Given the description of an element on the screen output the (x, y) to click on. 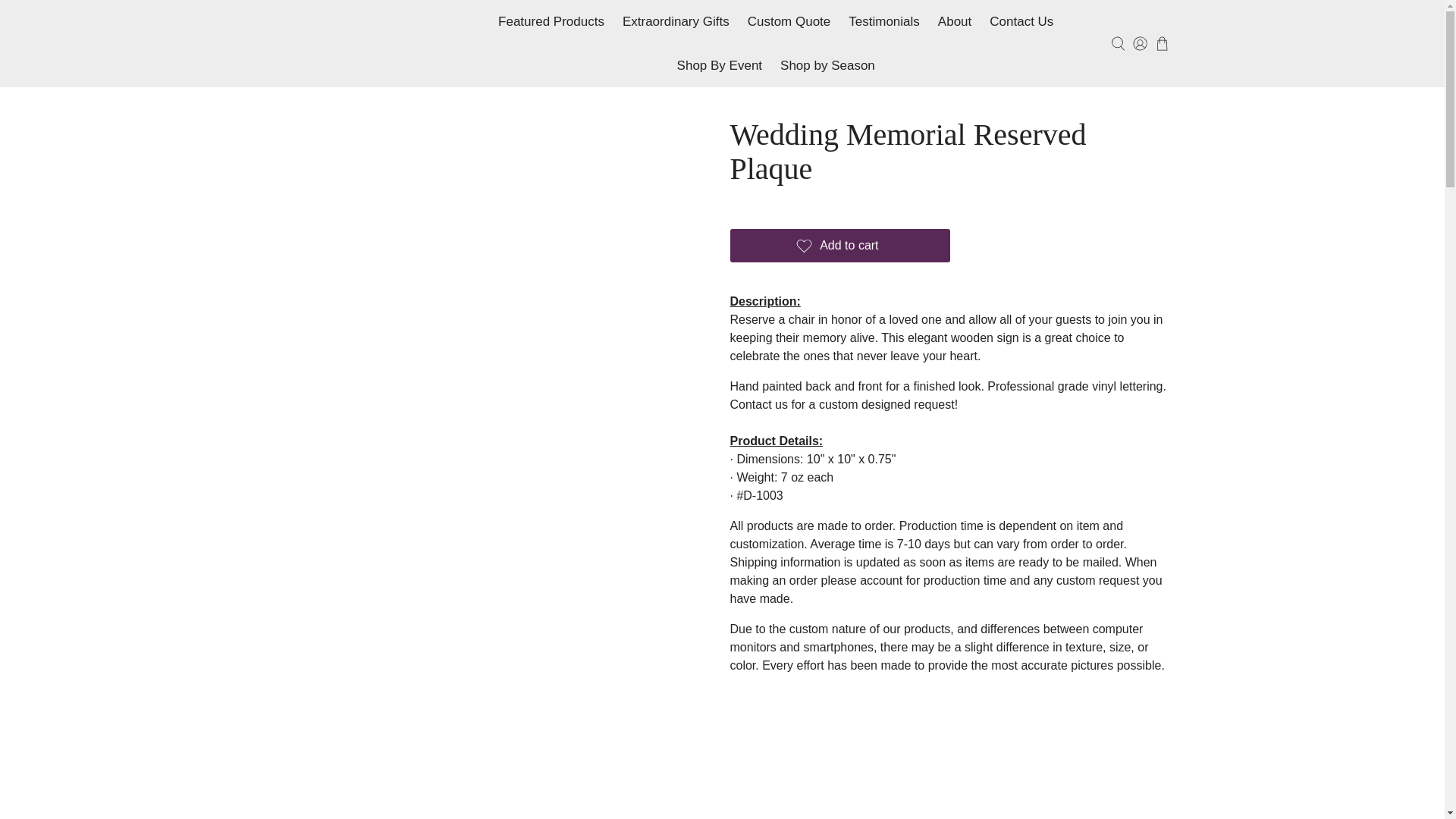
Extraordinary Gifts (675, 22)
Shop By Event (719, 65)
Daree's Designs, LLC (359, 43)
Contact Us (1020, 22)
About (953, 22)
Shop by Season (827, 65)
Featured Products (550, 22)
Testimonials (884, 22)
Custom Quote (789, 22)
